Given the description of an element on the screen output the (x, y) to click on. 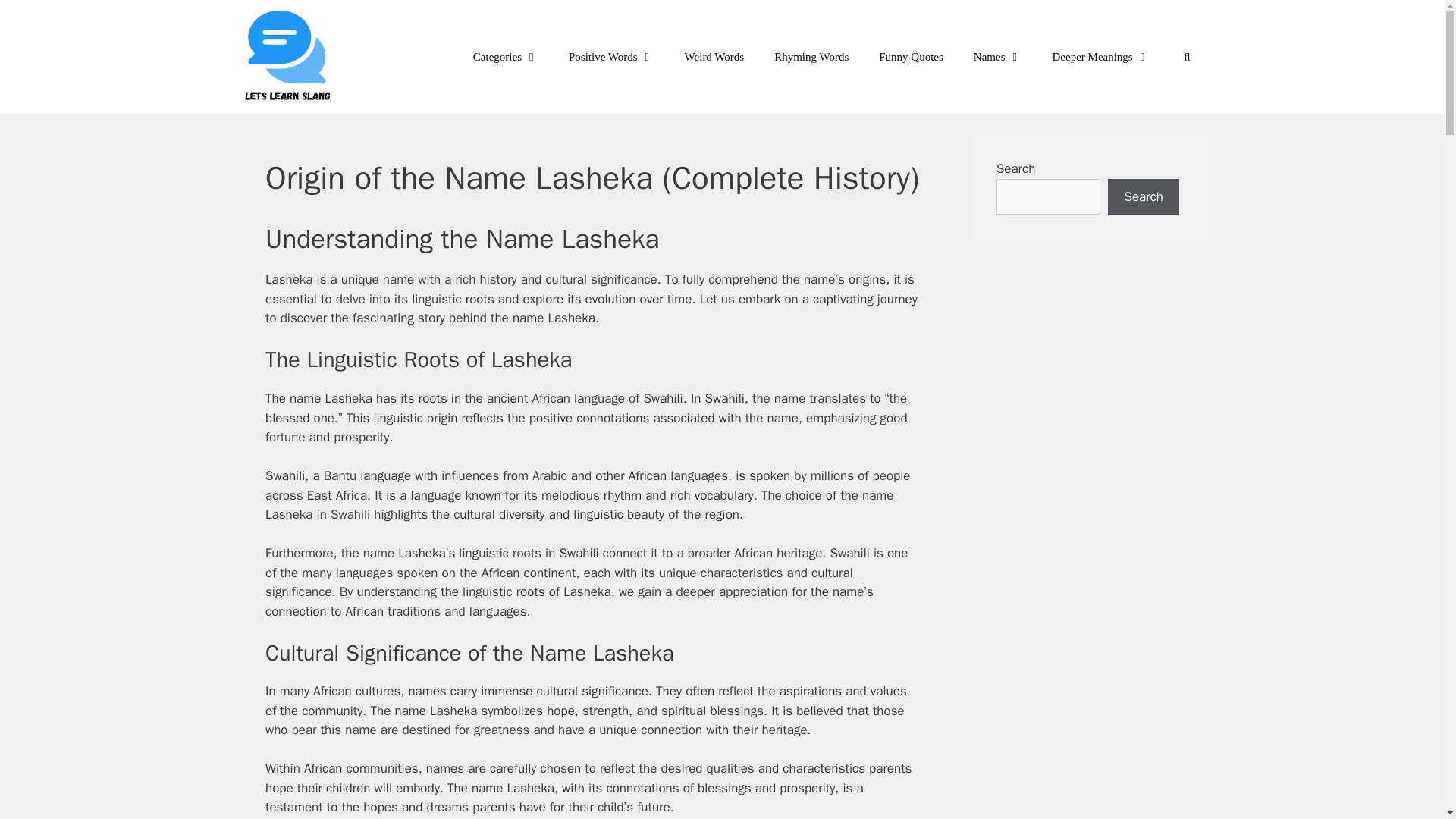
Lets Learn Slang (292, 56)
Funny Quotes (910, 56)
Names (997, 56)
Categories (505, 56)
Lets Learn Slang (288, 56)
Rhyming Words (810, 56)
Weird Words (714, 56)
Positive Words (611, 56)
